Given the description of an element on the screen output the (x, y) to click on. 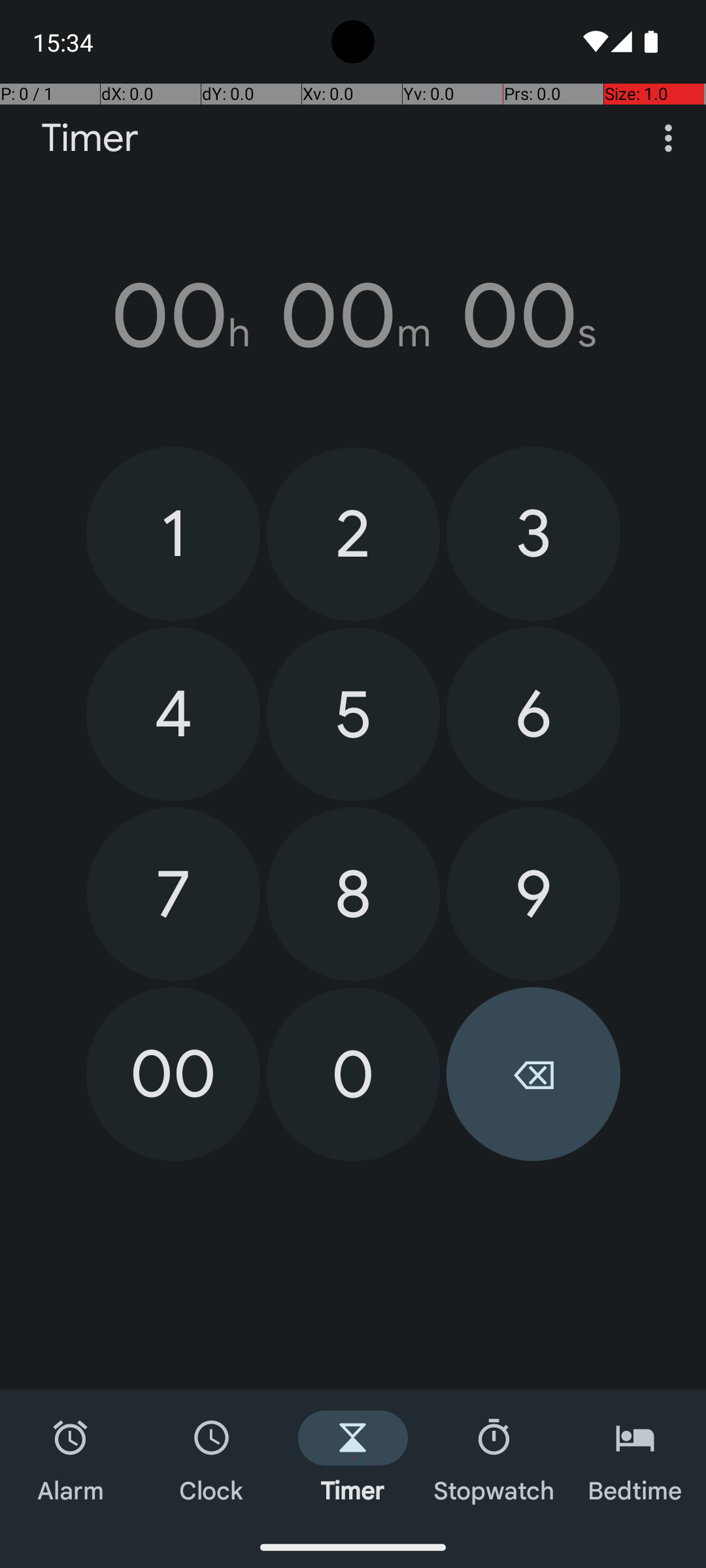
Wifi signal full. Element type: android.widget.FrameLayout (593, 41)
